Given the description of an element on the screen output the (x, y) to click on. 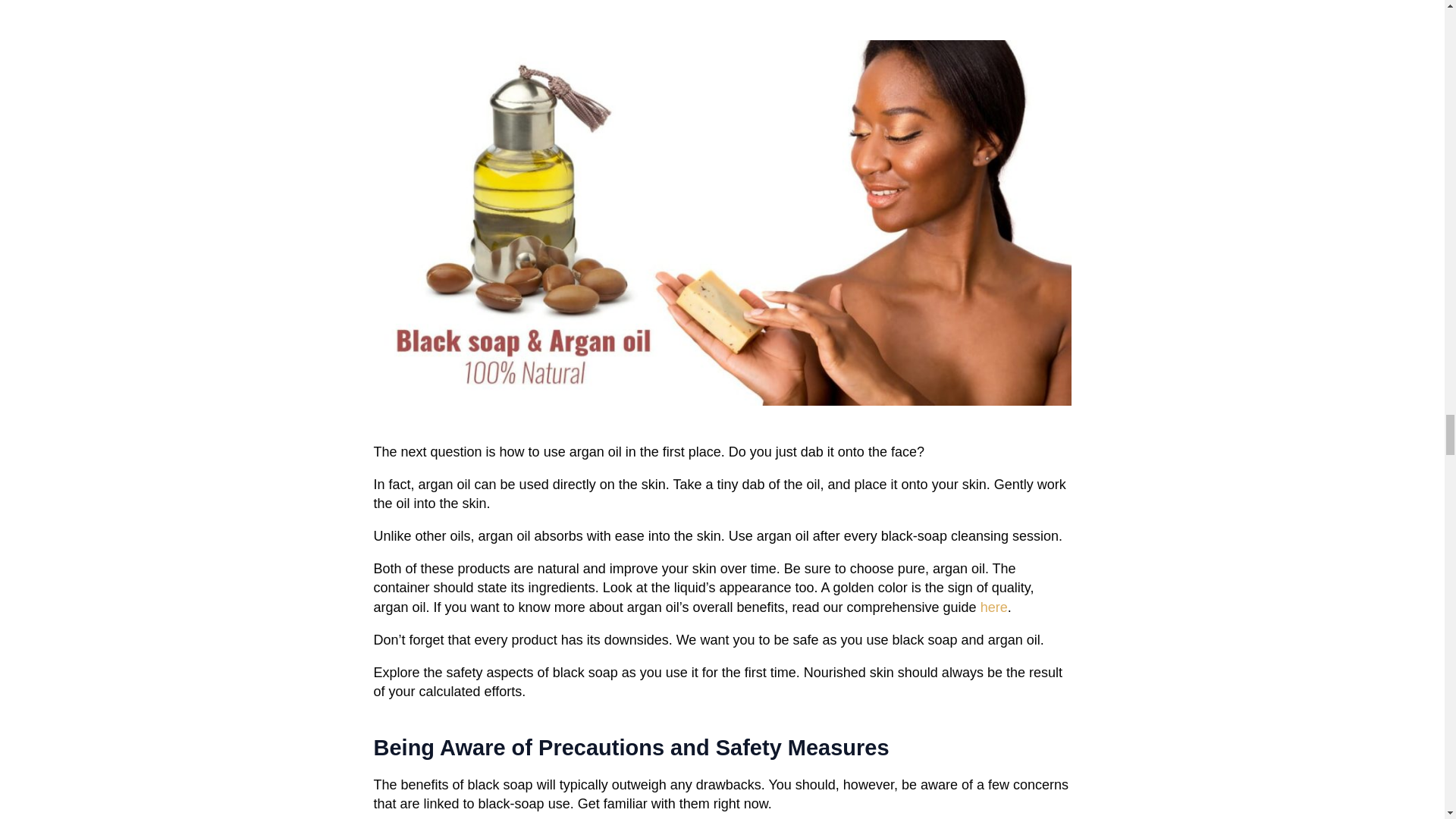
here (993, 607)
